Given the description of an element on the screen output the (x, y) to click on. 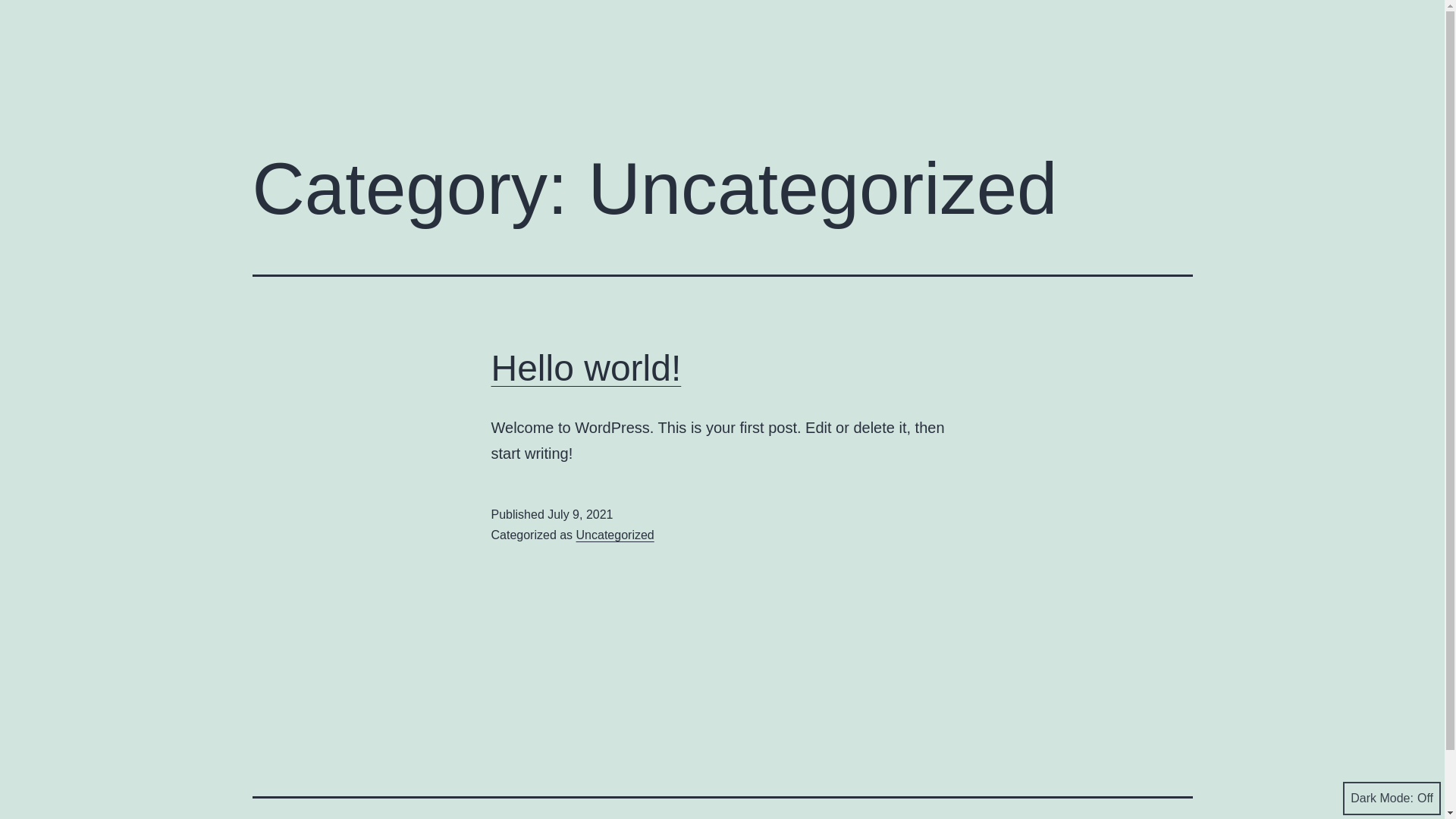
Uncategorized Element type: text (615, 534)
Hello world! Element type: text (586, 368)
Dark Mode: Element type: text (1391, 798)
